Given the description of an element on the screen output the (x, y) to click on. 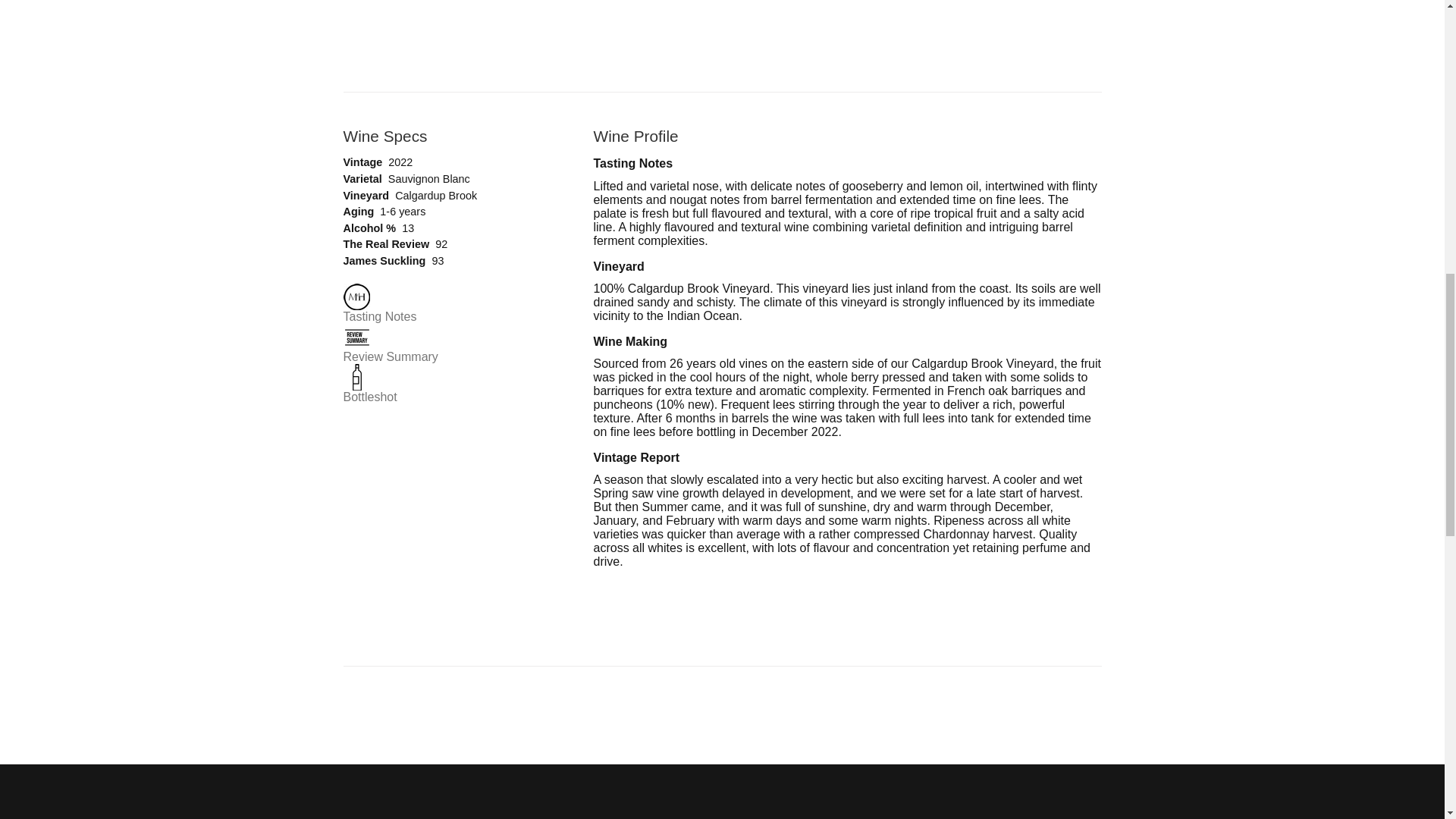
Tasting Notes (379, 316)
Review Summary (390, 356)
Bottleshot (369, 396)
